Given the description of an element on the screen output the (x, y) to click on. 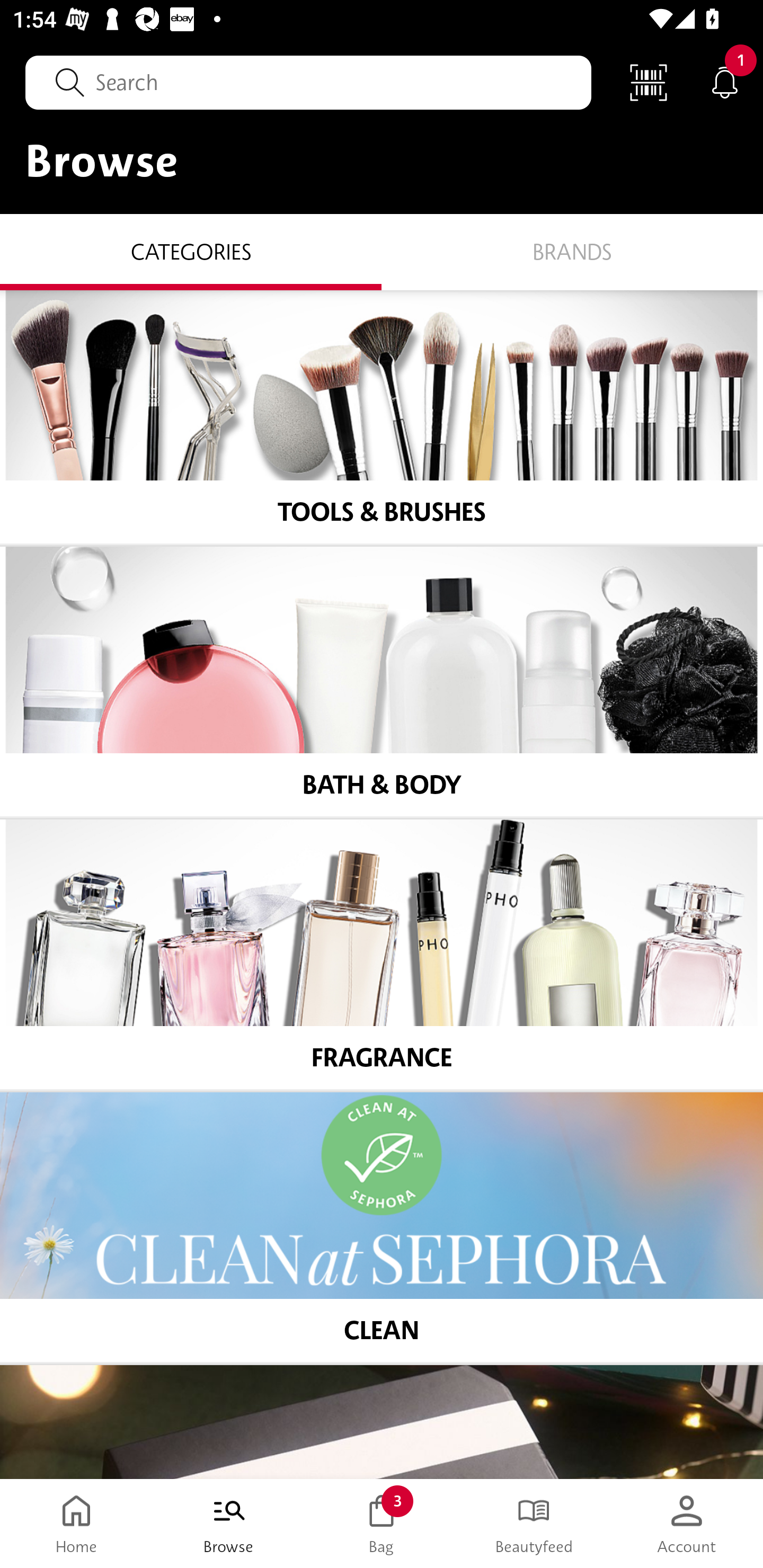
Scan Code (648, 81)
Notifications (724, 81)
Search (308, 81)
Brands BRANDS (572, 251)
TOOLS & BRUSHES (381, 417)
BATH & BODY (381, 682)
FRAGRANCE (381, 955)
CLEAN (381, 1228)
Home (76, 1523)
Bag 3 Bag (381, 1523)
Beautyfeed (533, 1523)
Account (686, 1523)
